Given the description of an element on the screen output the (x, y) to click on. 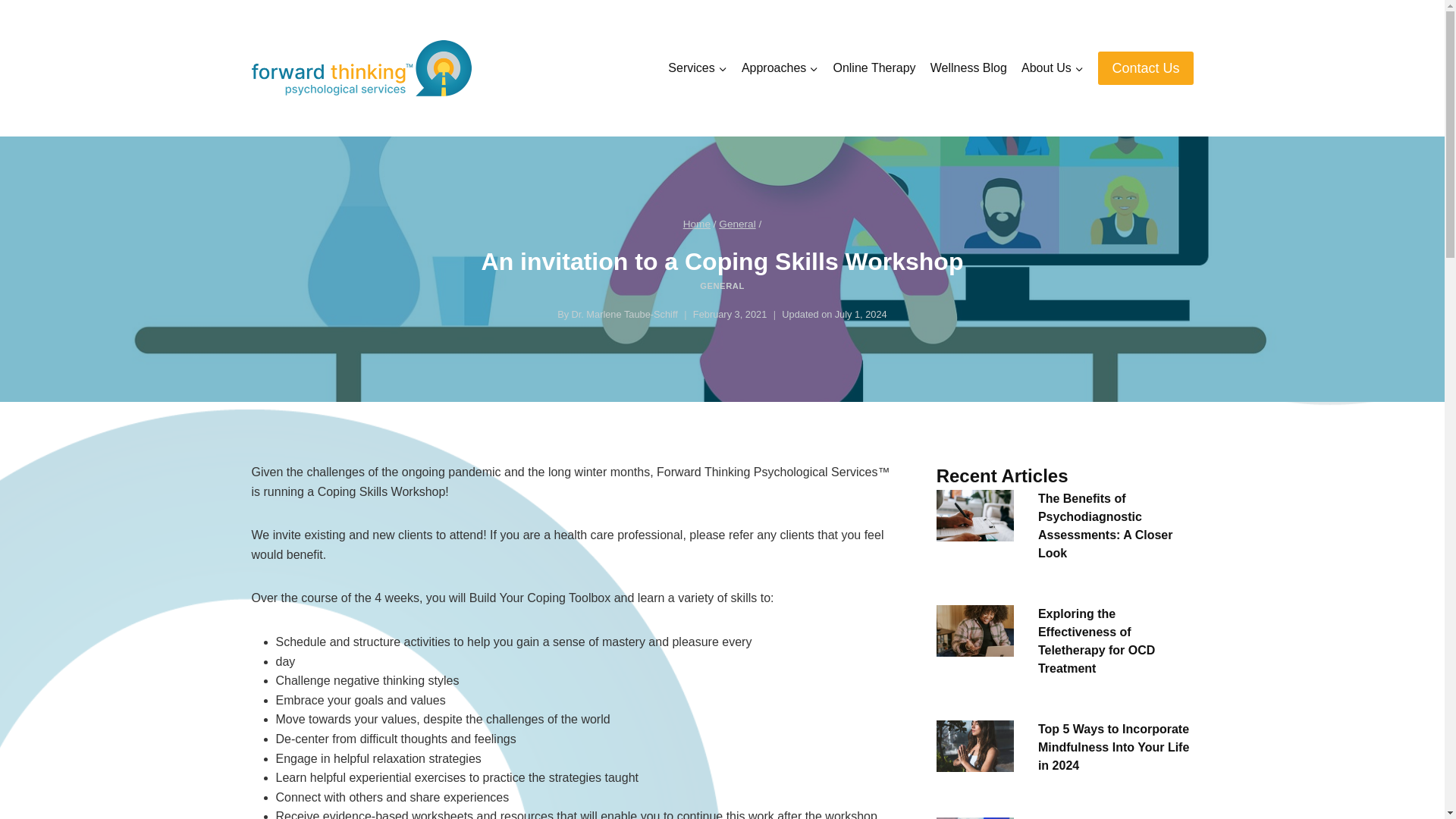
Services (698, 68)
About Us (1051, 68)
Online Therapy (874, 68)
Wellness Blog (968, 68)
Approaches (779, 68)
